Given the description of an element on the screen output the (x, y) to click on. 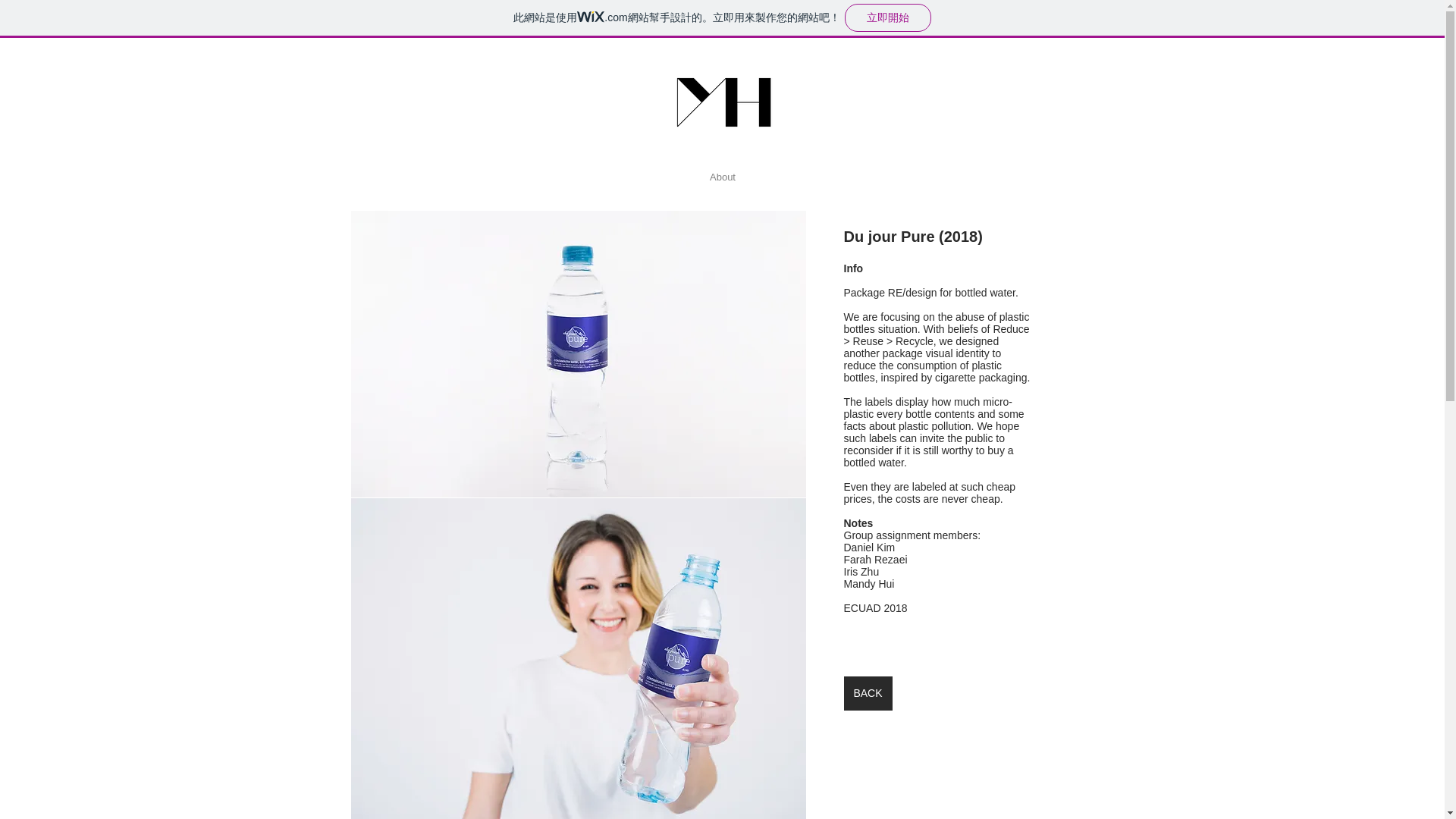
BACK (867, 693)
About (722, 177)
